Given the description of an element on the screen output the (x, y) to click on. 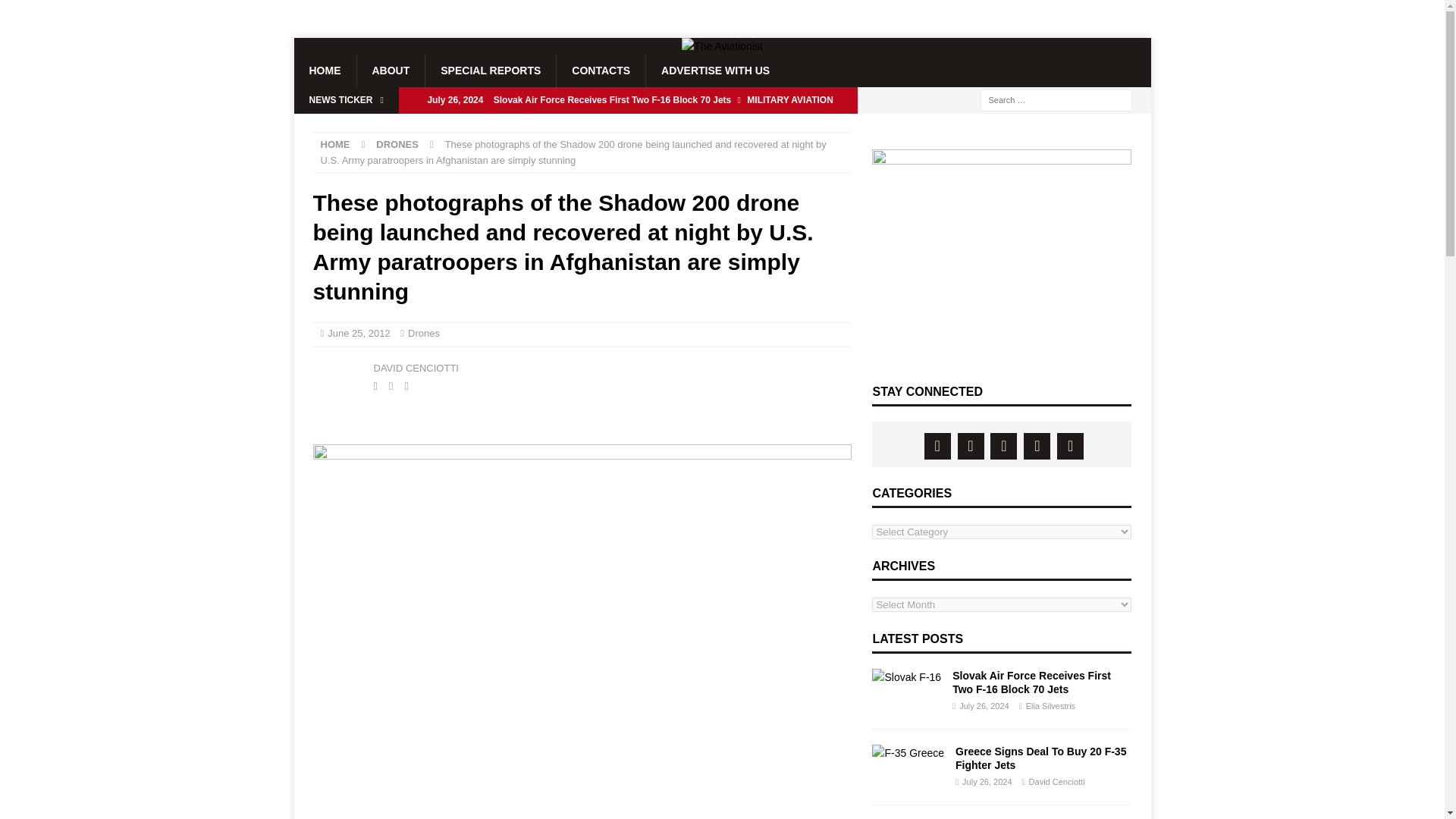
DAVID CENCIOTTI (415, 367)
DRONES (397, 143)
David Cenciotti (339, 375)
Drones (423, 333)
CONTACTS (600, 70)
SPECIAL REPORTS (490, 70)
The Aviationist (721, 46)
HOME (325, 70)
HOME (334, 143)
June 25, 2012 (358, 333)
Greece Signs Deal To Buy 20 F-35 Fighter Jets (628, 125)
ABOUT (390, 70)
Slovak Air Force Receives First Two F-16 Block 70 Jets (628, 99)
ADVERTISE WITH US (714, 70)
Search (56, 11)
